Given the description of an element on the screen output the (x, y) to click on. 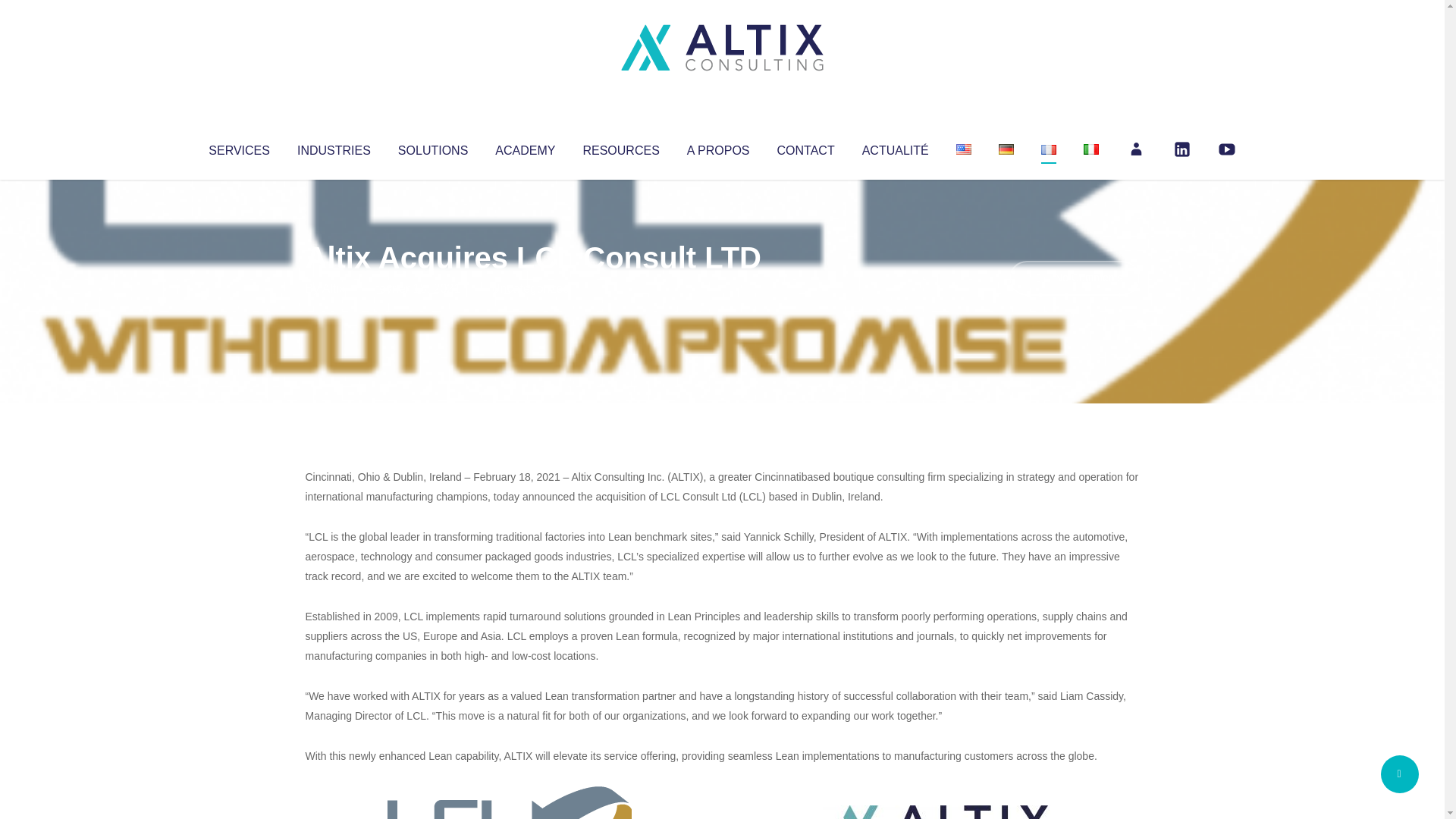
Uncategorized (530, 287)
INDUSTRIES (334, 146)
SOLUTIONS (432, 146)
No Comments (1073, 278)
ACADEMY (524, 146)
RESOURCES (620, 146)
Altix (333, 287)
A PROPOS (718, 146)
SERVICES (238, 146)
Articles par Altix (333, 287)
